Given the description of an element on the screen output the (x, y) to click on. 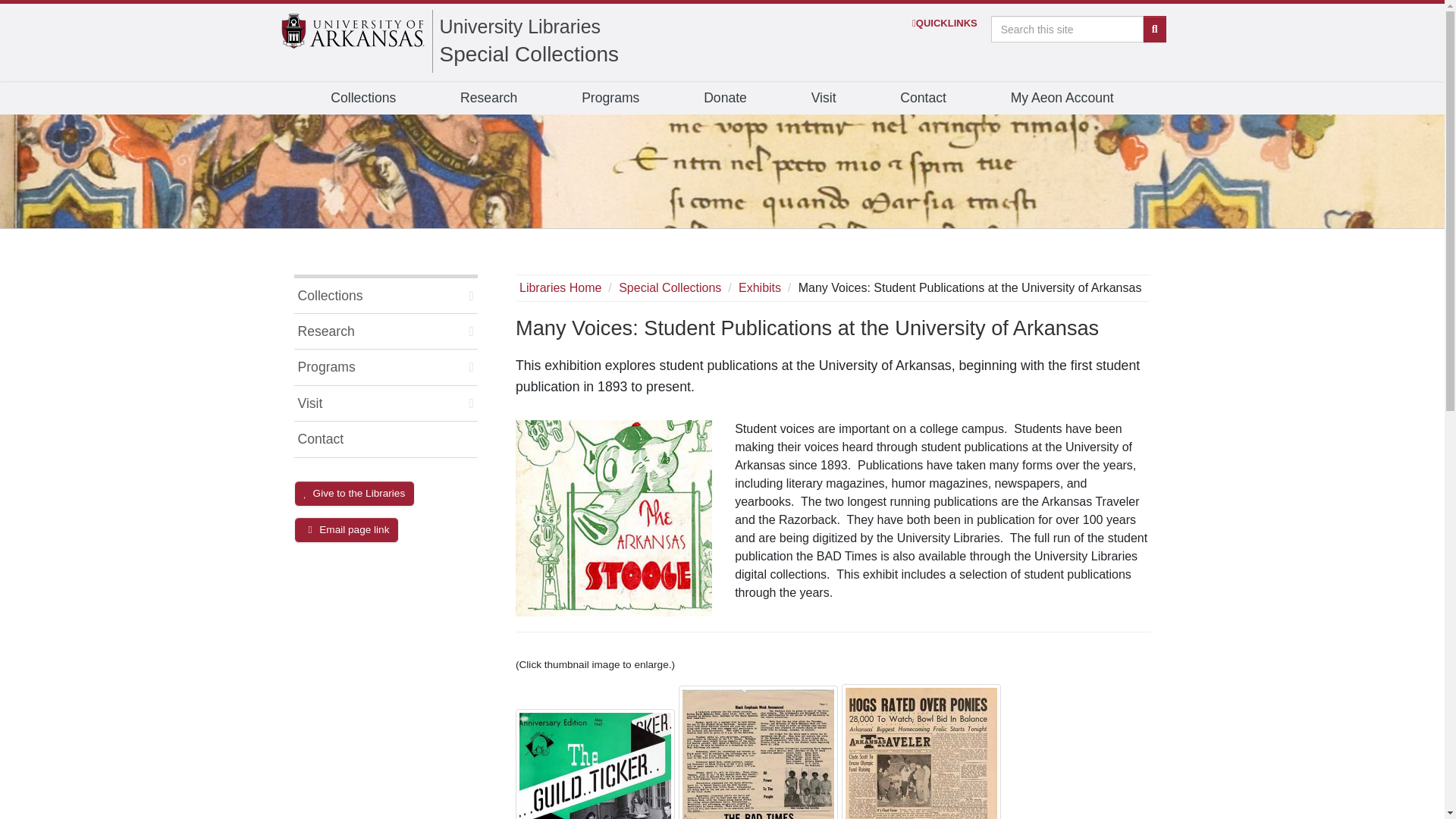
Programs (609, 98)
Special Collections (529, 54)
Special Collections (669, 287)
Collections (362, 98)
Contact (923, 98)
University Libraries (520, 25)
University Libraries (520, 25)
Visit (823, 98)
Research (488, 98)
QUICKLINKS (944, 22)
Donate (724, 98)
Send the URL and title of this page to your email (346, 529)
My Aeon Account (1061, 98)
Exhibits (759, 287)
Libraries Home (560, 287)
